Given the description of an element on the screen output the (x, y) to click on. 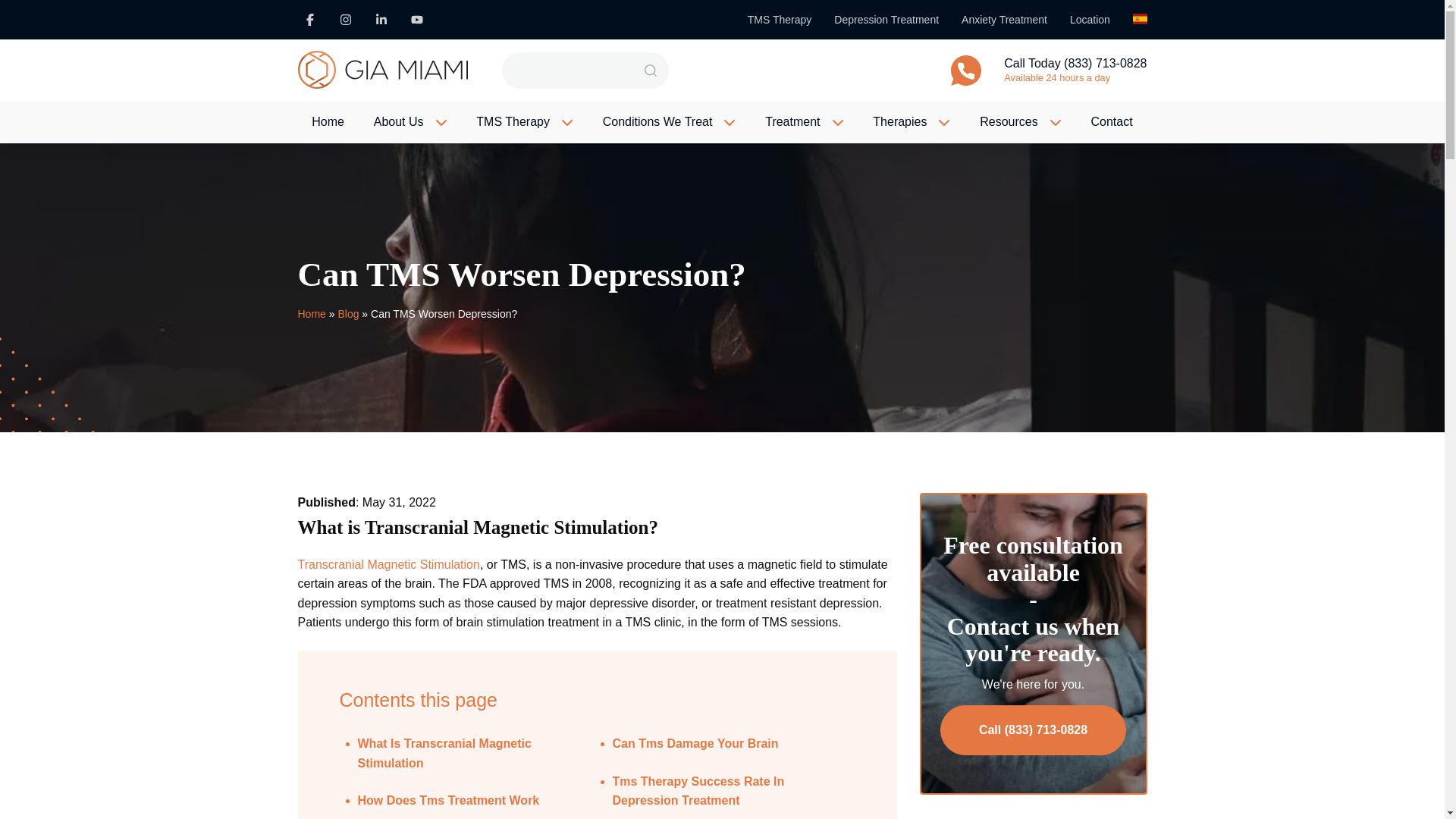
Treatment (792, 121)
Depression Treatment (886, 19)
TMS Therapy (780, 19)
About Us (398, 121)
Search (649, 69)
Visit our Linkedin (380, 19)
GIA Miami (382, 69)
Conditions We Treat (657, 121)
Visit our Instagram (345, 19)
Location (1089, 19)
